Given the description of an element on the screen output the (x, y) to click on. 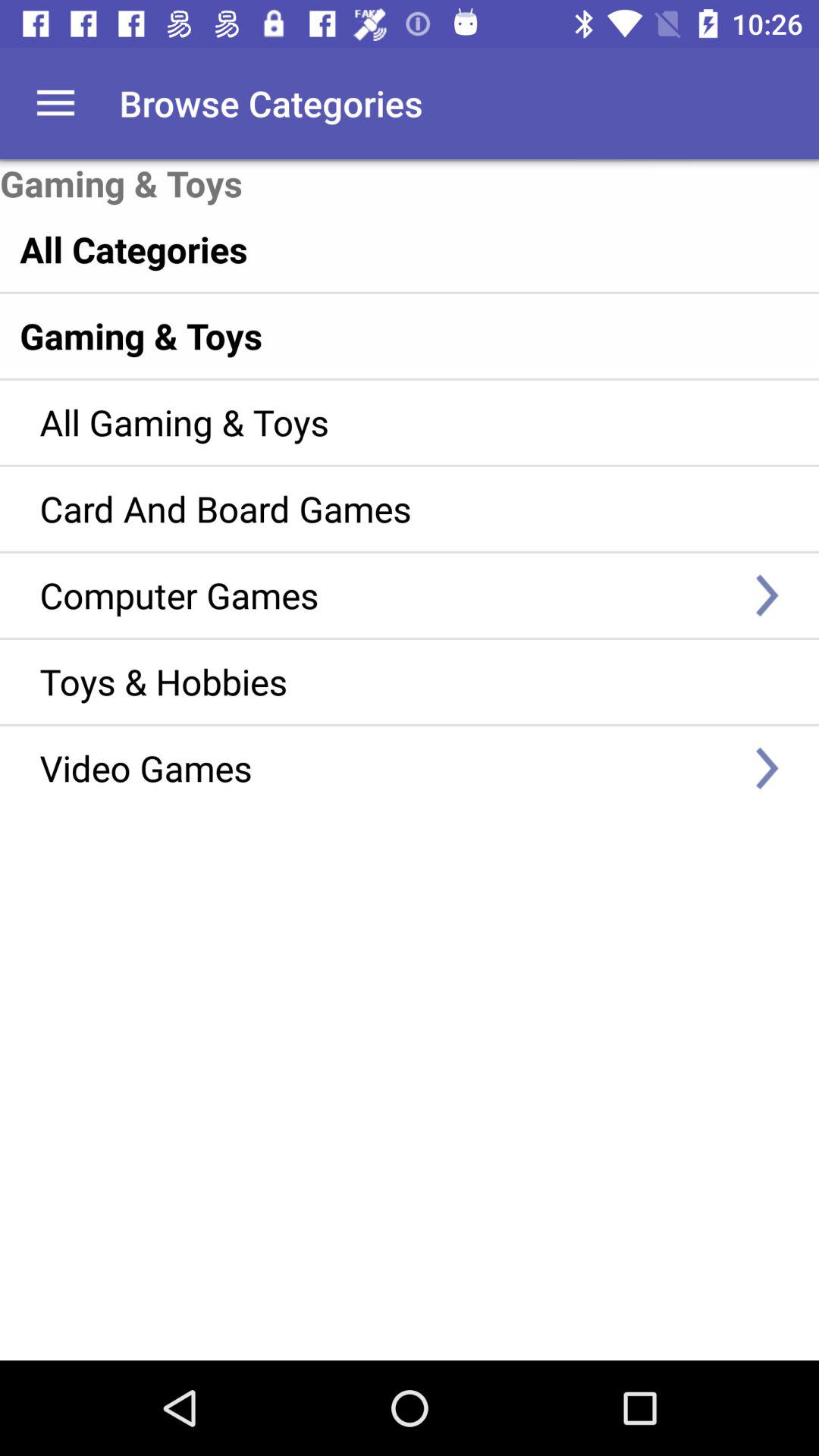
open the icon below the card and board item (387, 595)
